Given the description of an element on the screen output the (x, y) to click on. 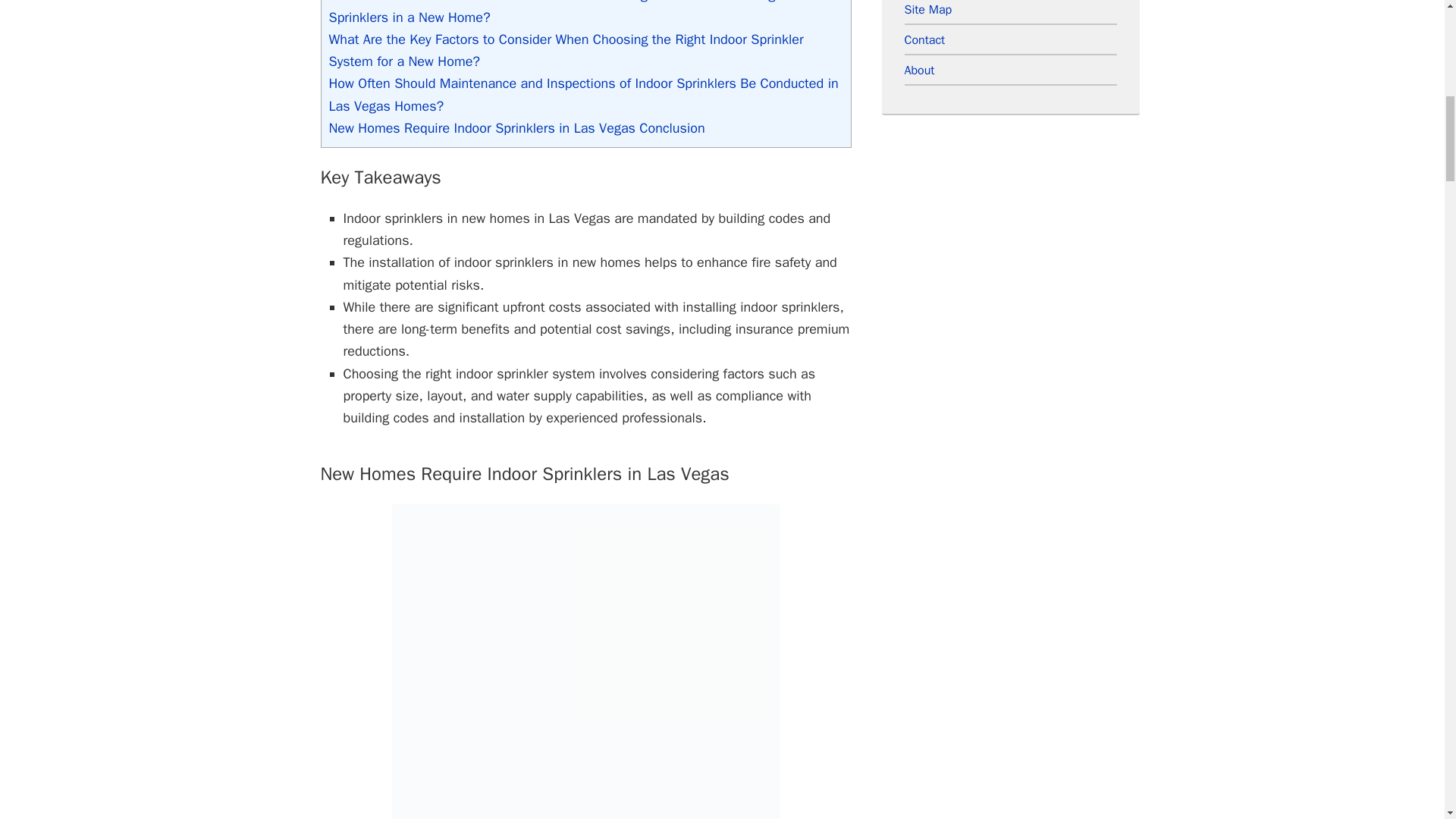
New Homes Require Indoor Sprinklers in Las Vegas 1 (584, 661)
New Homes Require Indoor Sprinklers in Las Vegas Conclusion (516, 127)
